Given the description of an element on the screen output the (x, y) to click on. 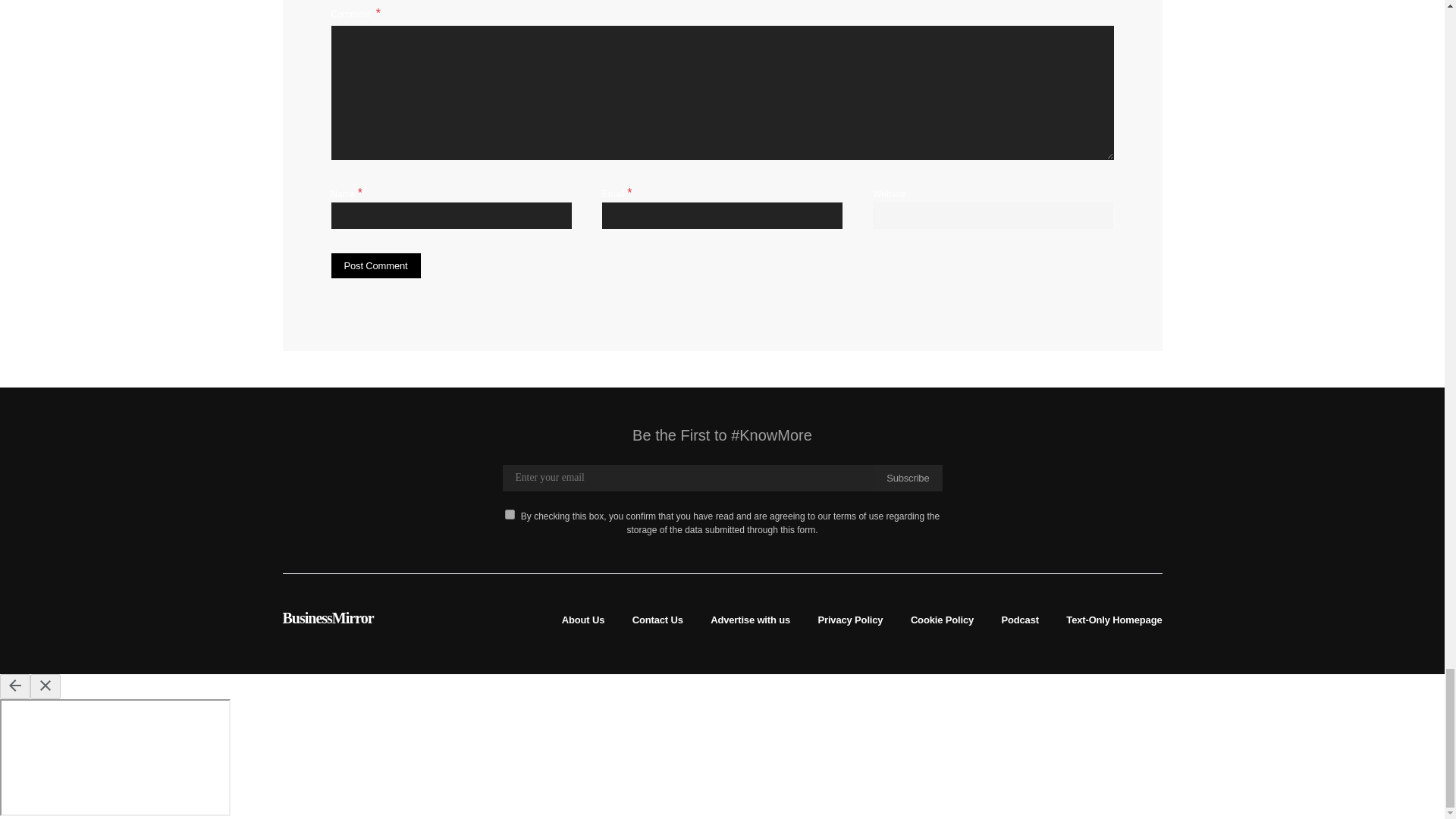
Post Comment (375, 266)
on (510, 514)
